Given the description of an element on the screen output the (x, y) to click on. 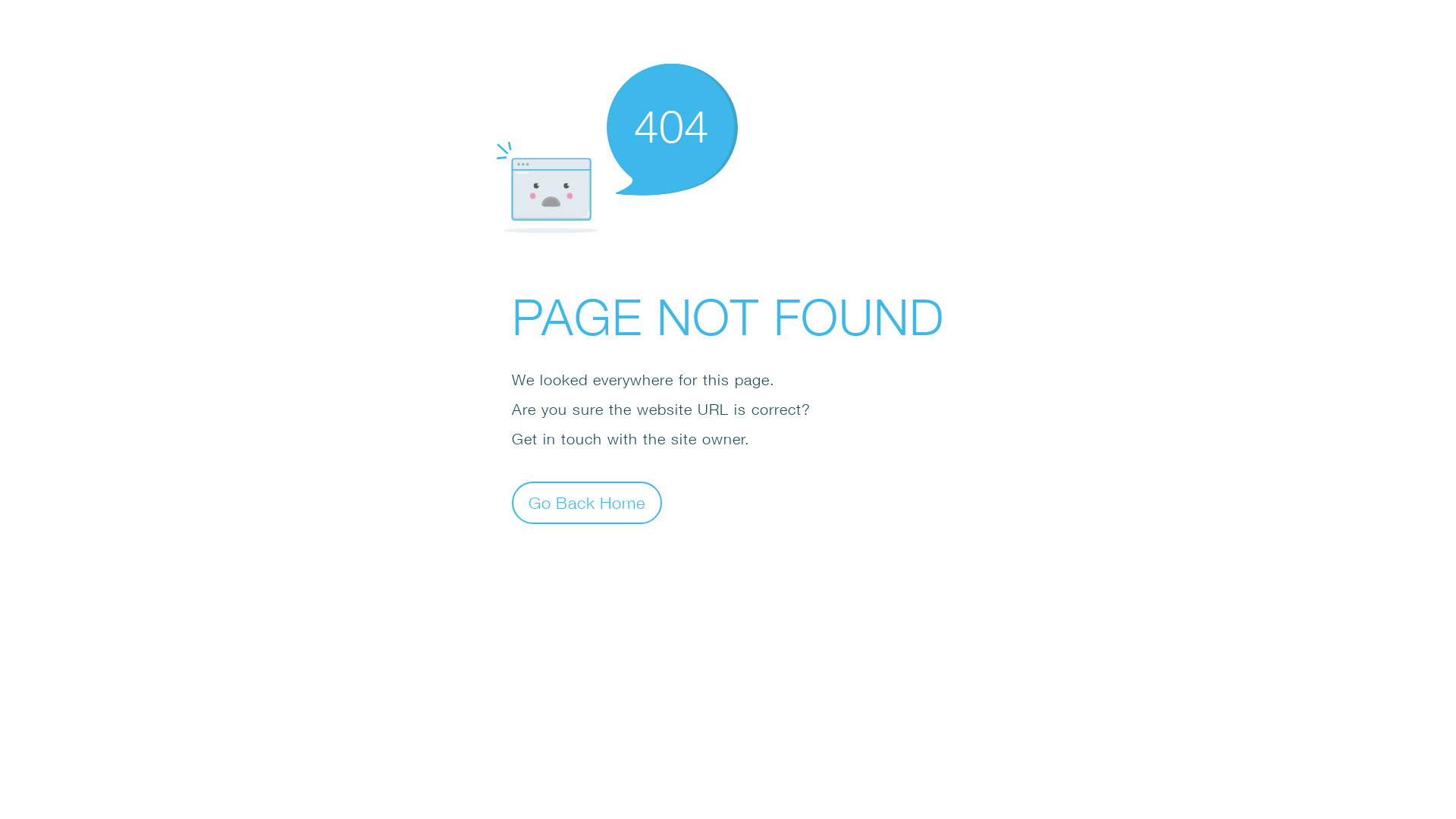
Go Back Home Element type: text (586, 502)
